Given the description of an element on the screen output the (x, y) to click on. 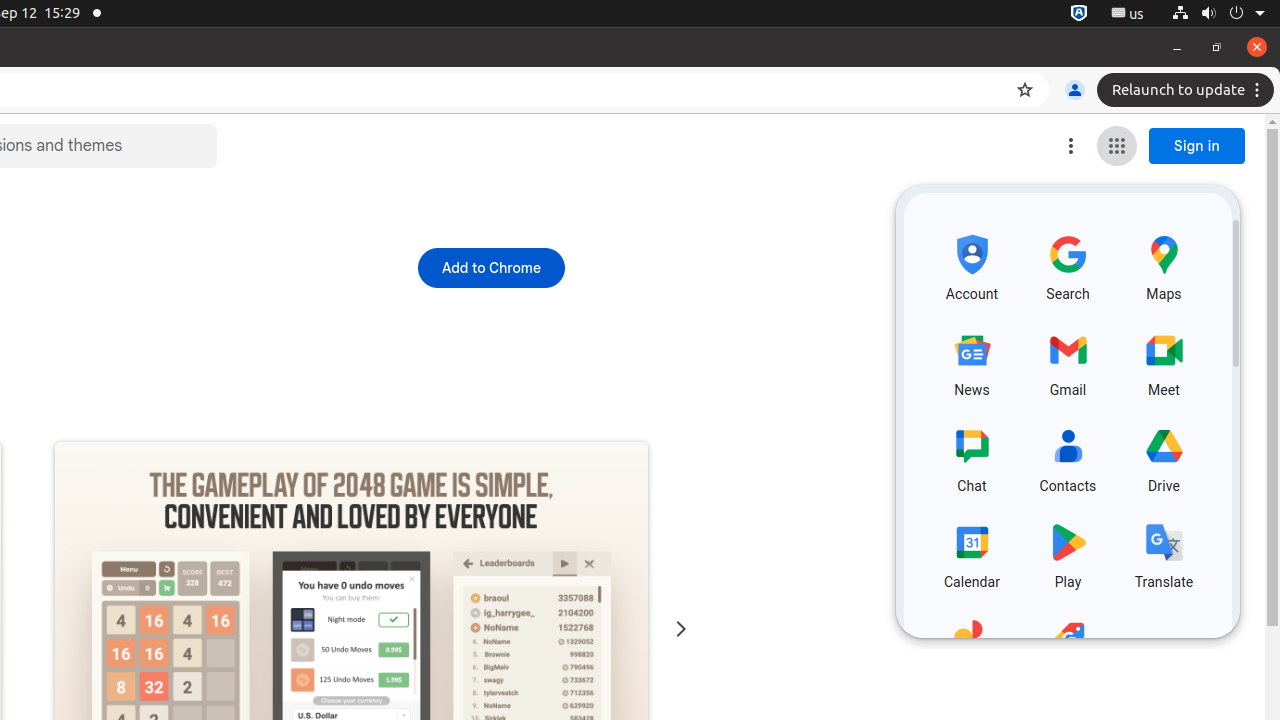
:1.21/StatusNotifierItem Element type: menu (1127, 13)
Chat, row 3 of 5 and column 1 of 3 in the first section (opens a new tab) Element type: link (972, 456)
Gmail, row 2 of 5 and column 2 of 3 in the first section (opens a new tab) Element type: link (1068, 361)
System Element type: menu (1218, 13)
Drive, row 3 of 5 and column 3 of 3 in the first section (opens a new tab) Element type: link (1164, 456)
